Given the description of an element on the screen output the (x, y) to click on. 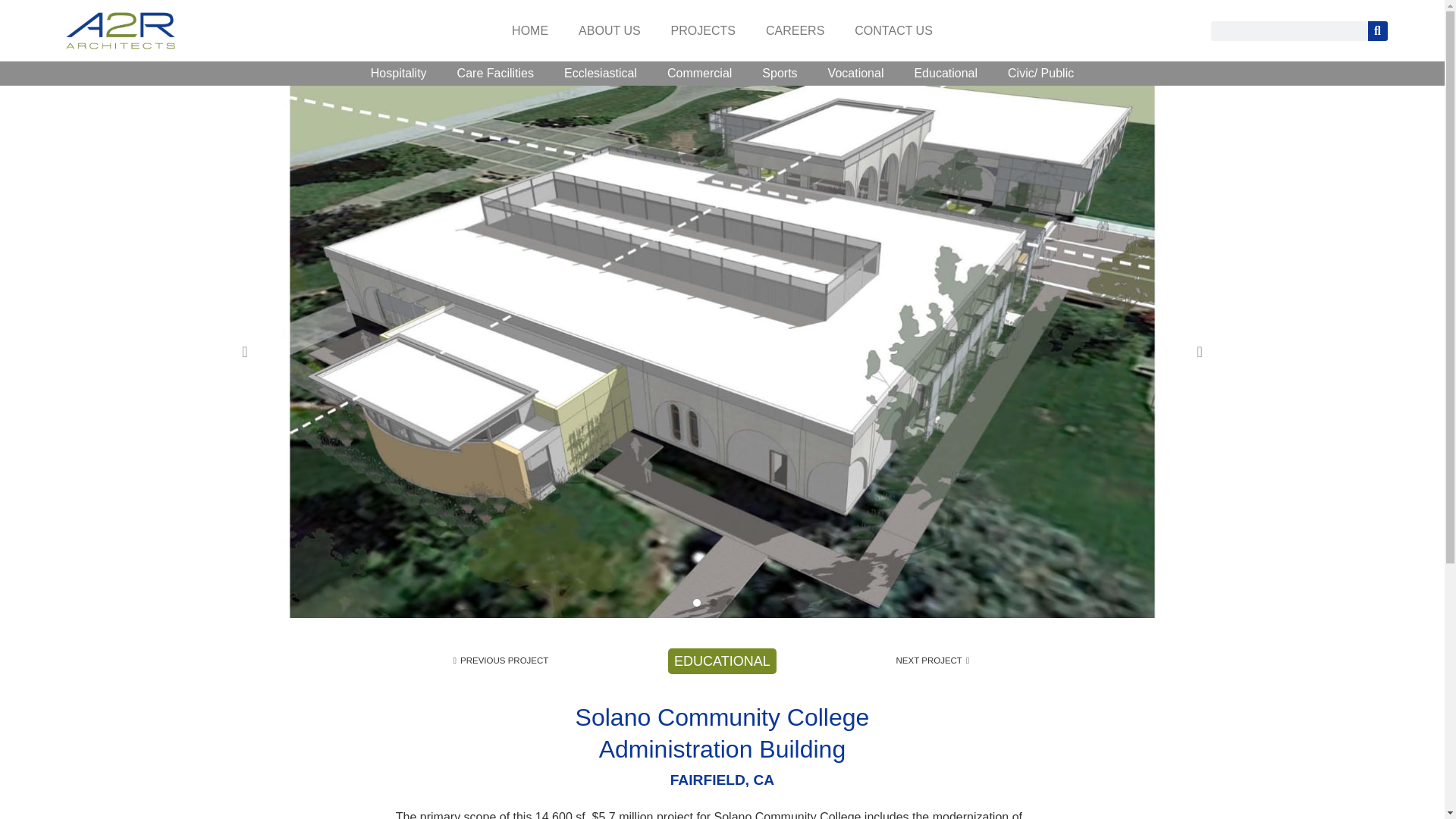
CONTACT US (893, 30)
Commercial (699, 73)
Educational (945, 73)
Care Facilities (495, 73)
Search (1377, 30)
HOME (529, 30)
PROJECTS (703, 30)
Hospitality (398, 73)
Vocational (855, 73)
CAREERS (795, 30)
ABOUT US (609, 30)
Sports (779, 73)
Ecclesiastical (600, 73)
